Given the description of an element on the screen output the (x, y) to click on. 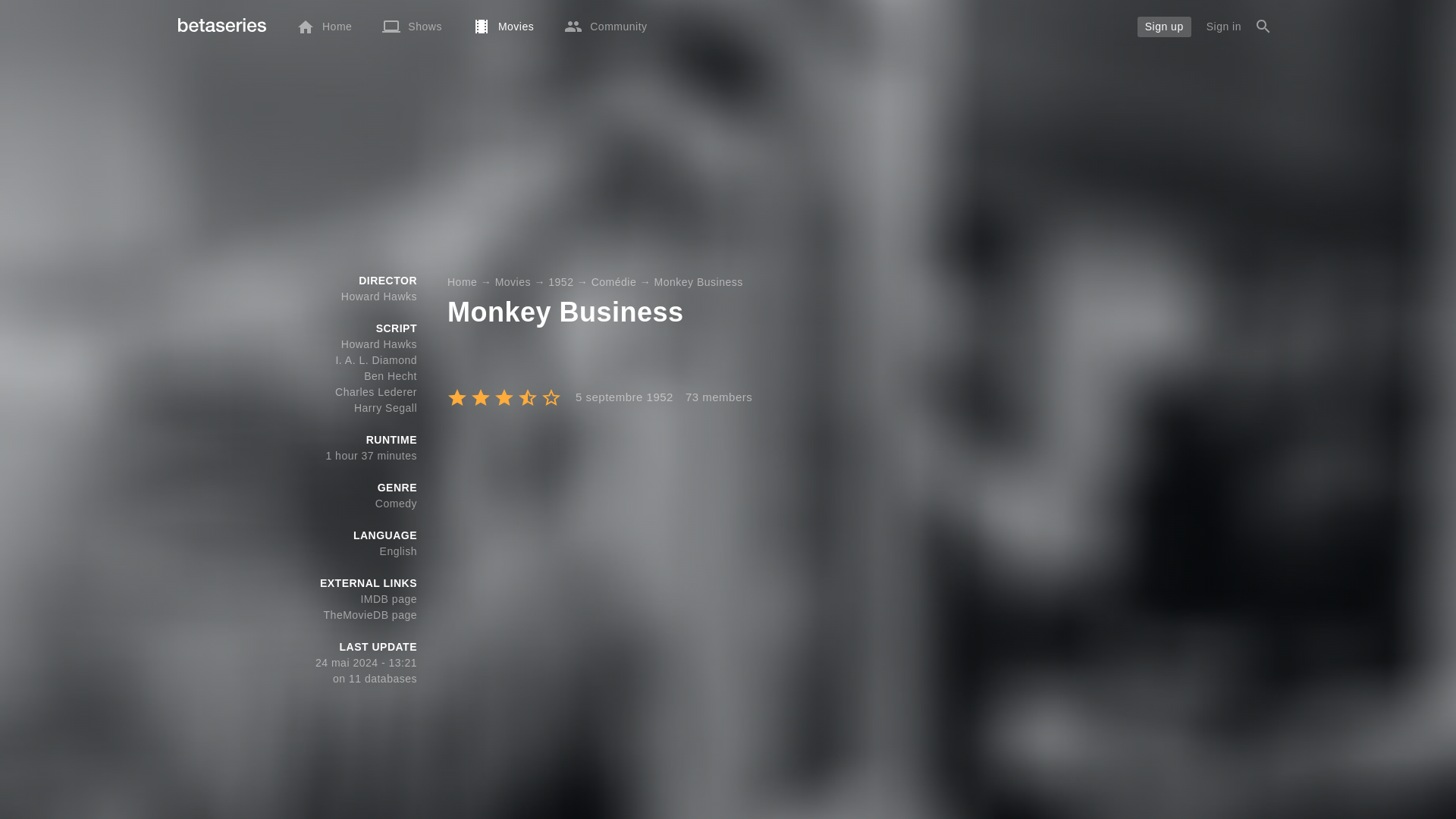
Monkey Business (697, 282)
1952 (560, 282)
IMDB page (387, 598)
Original release date:  3 septembre 1952 (617, 397)
Harry Segall (384, 408)
Home (323, 26)
Movies (502, 26)
I. A. L. Diamond (375, 359)
Shows (411, 26)
Howard Hawks (378, 296)
